Given the description of an element on the screen output the (x, y) to click on. 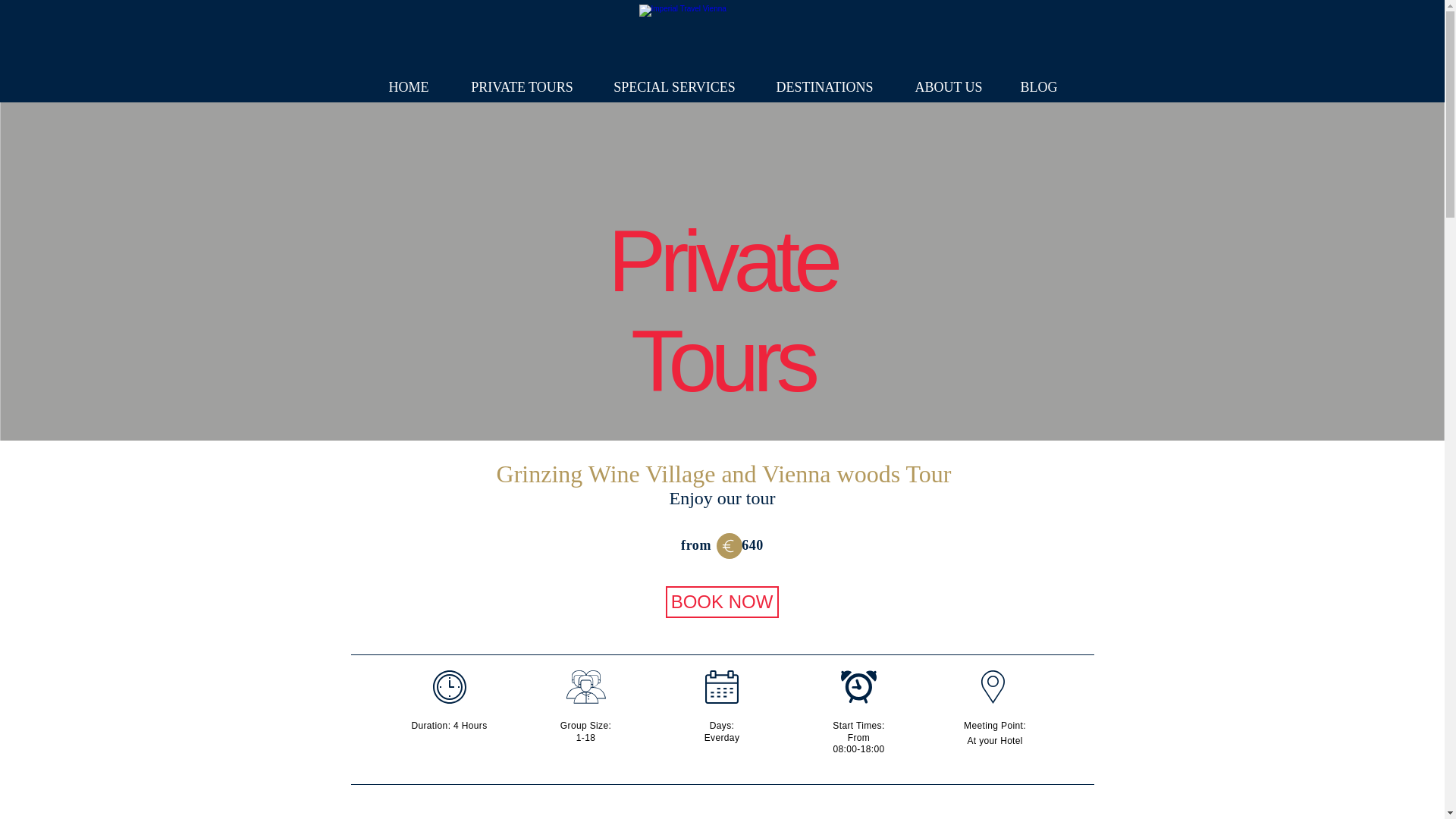
HOME (408, 87)
ABOUT US (948, 87)
DESTINATIONS (824, 87)
SPECIAL SERVICES (674, 87)
BOOK NOW (721, 602)
PRIVATE TOURS (521, 87)
BLOG (1038, 87)
